Given the description of an element on the screen output the (x, y) to click on. 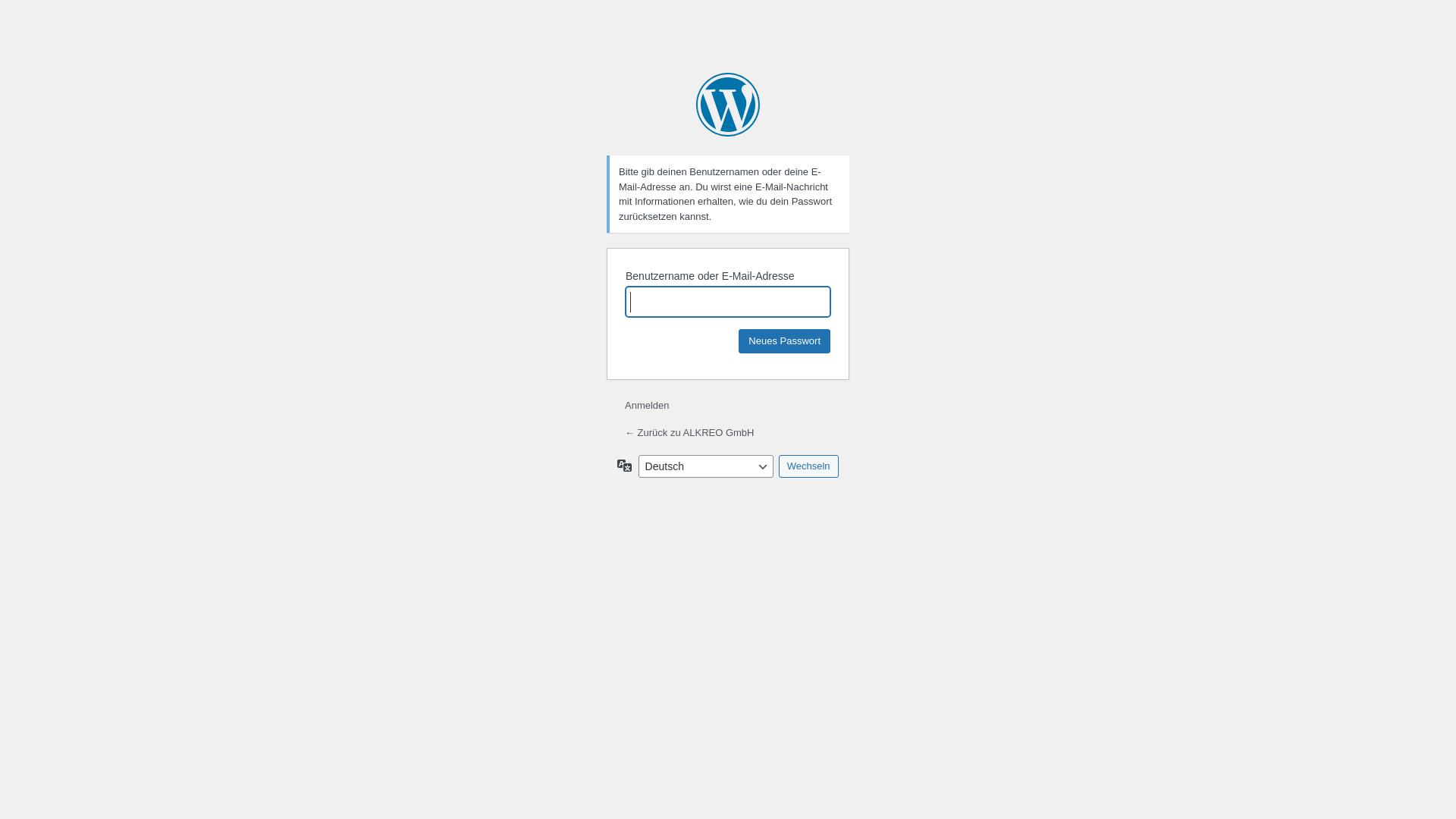
Neues Passwort Element type: text (784, 341)
Anmelden Element type: text (646, 405)
Wechseln Element type: text (808, 466)
Powered by WordPress Element type: text (727, 104)
